Given the description of an element on the screen output the (x, y) to click on. 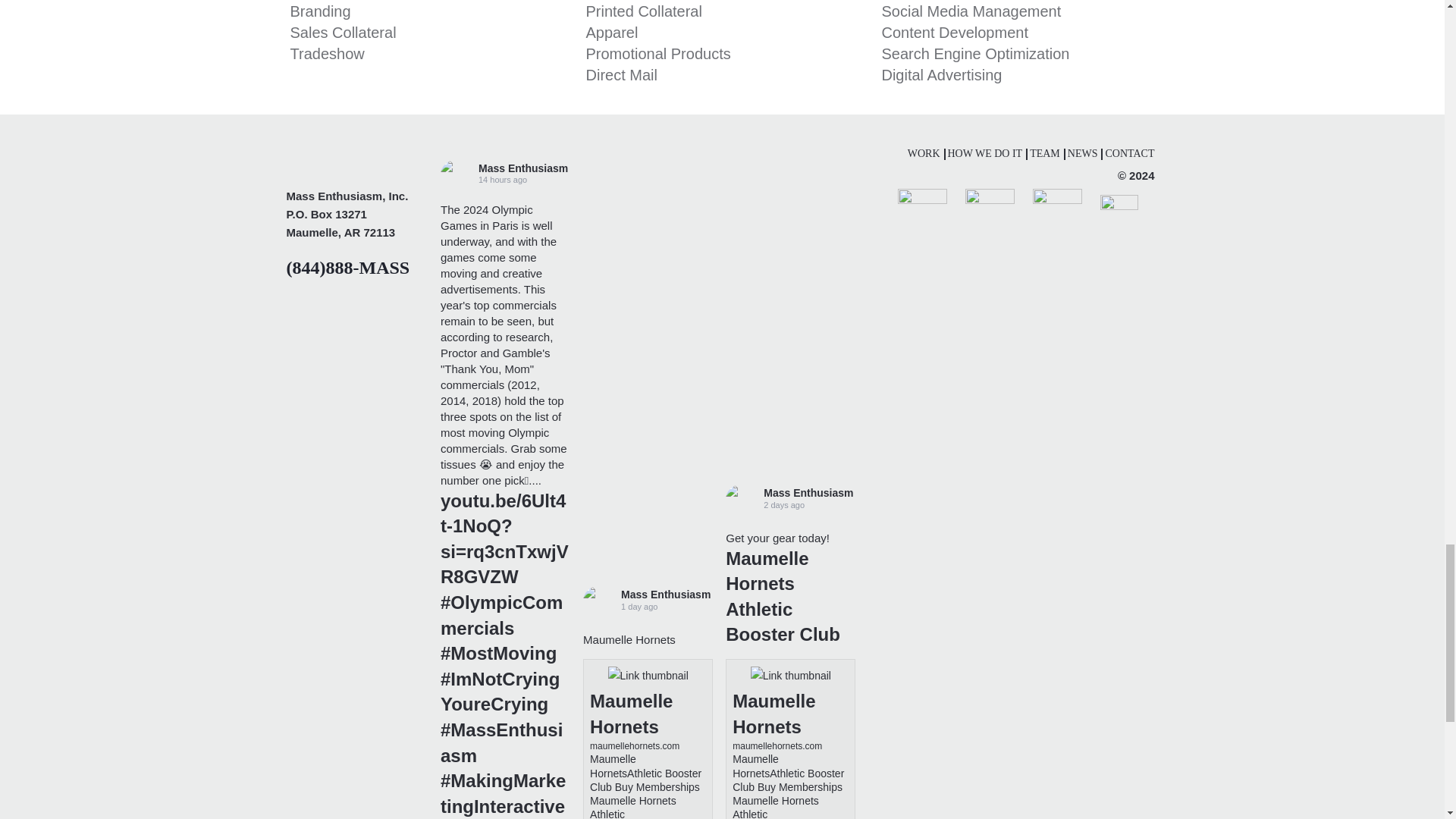
Tradeshow (327, 53)
Direct Mail (620, 74)
Printed Collateral (643, 11)
Promotional Products (657, 53)
Sales Collateral (342, 32)
Apparel (611, 32)
Branding (319, 11)
